Given the description of an element on the screen output the (x, y) to click on. 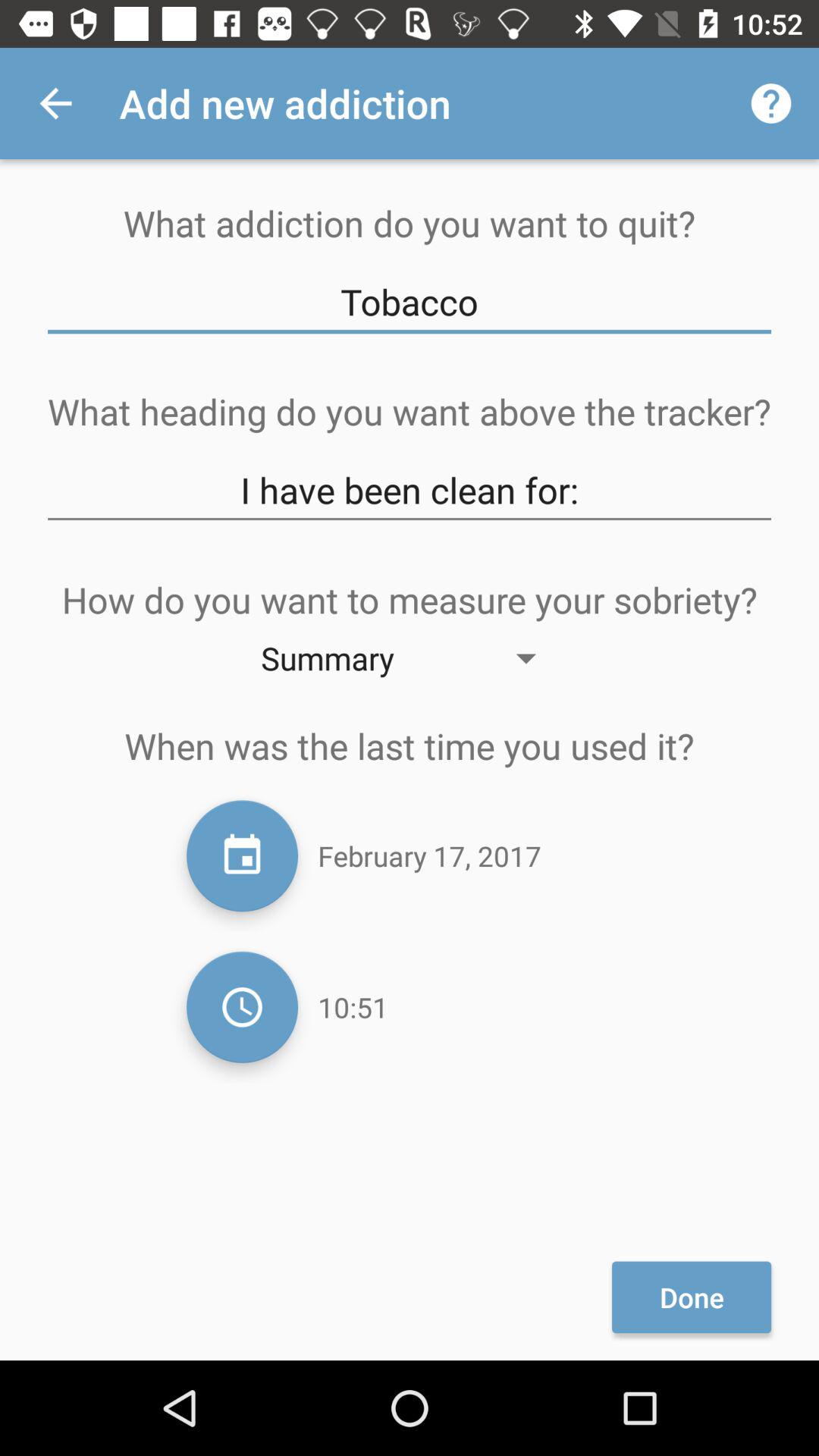
open calendar (242, 855)
